Given the description of an element on the screen output the (x, y) to click on. 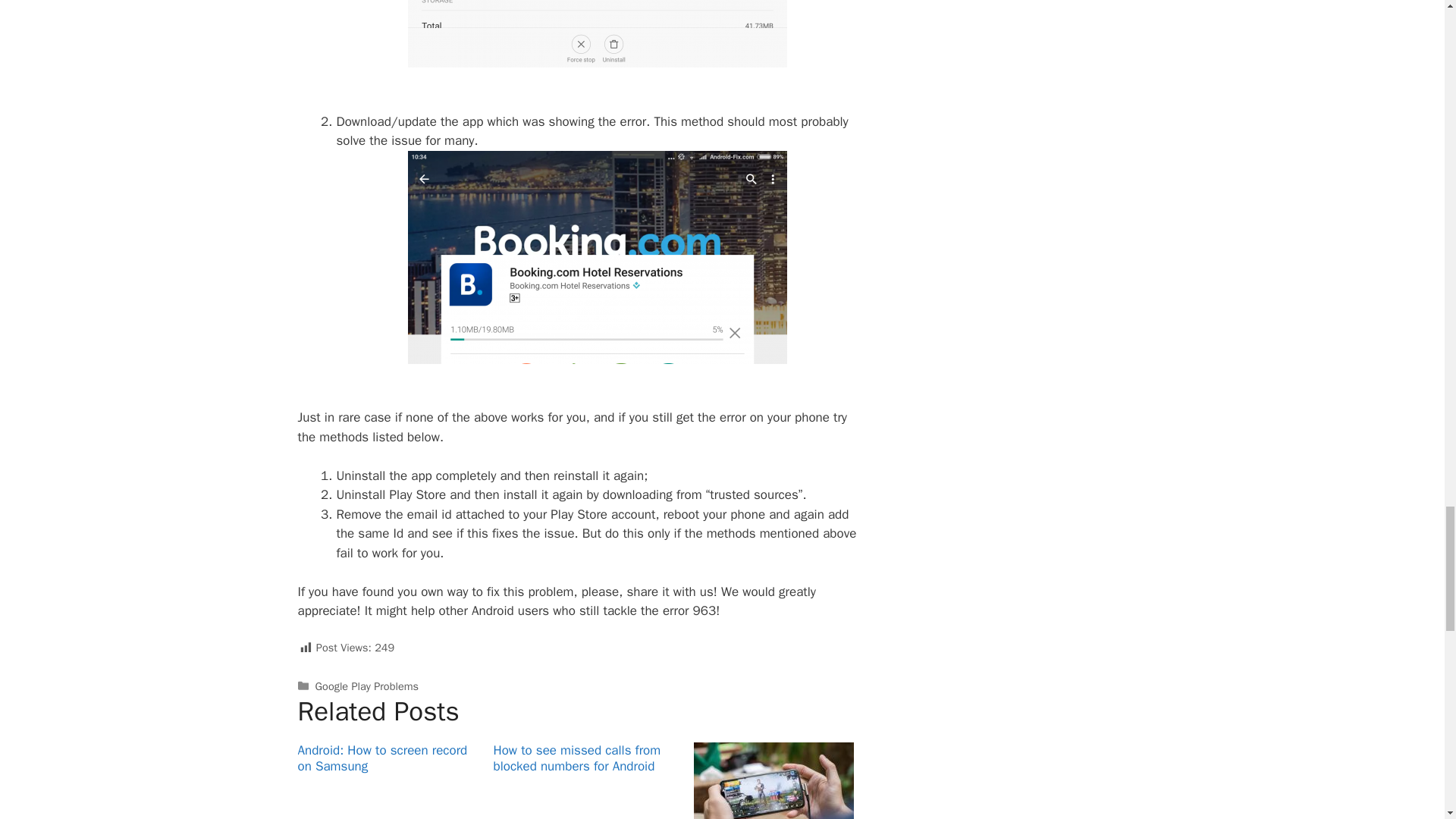
Android: How to screen record on Samsung (382, 758)
Google Play Problems (367, 685)
